Given the description of an element on the screen output the (x, y) to click on. 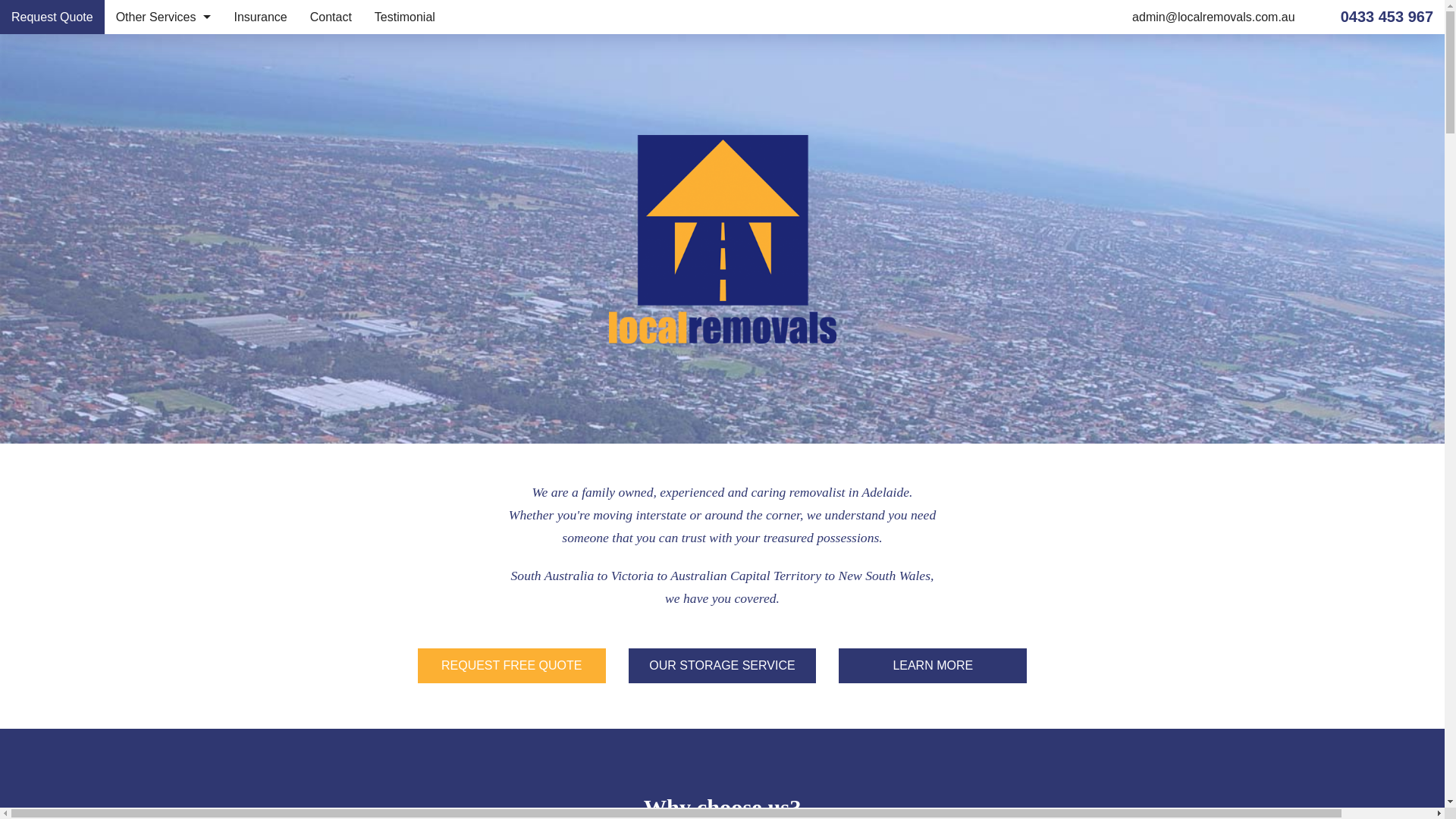
0433 453 967 Element type: text (1386, 16)
admin@localremovals.com.au Element type: text (1213, 17)
Other Services Element type: text (163, 17)
Insurance Element type: text (260, 17)
Cleaning Element type: text (163, 187)
Contact Element type: text (330, 17)
Storage in Adelaide Element type: text (861, 635)
Storage in Adelaide Element type: text (163, 119)
Testimonial Element type: text (818, 757)
Cleaning Element type: text (826, 684)
OUR STORAGE SERVICE Element type: text (722, 665)
Request Quote Element type: text (832, 538)
Contact Element type: text (807, 732)
Removals in Adelaide Element type: text (163, 153)
Packing Element type: text (823, 611)
Insurance Element type: text (814, 708)
Boxes Element type: text (817, 587)
admin@localremovals.com.au Element type: text (550, 641)
LEARN MORE Element type: text (932, 665)
REQUEST FREE QUOTE Element type: text (511, 665)
Boxes Element type: text (163, 51)
Testimonial Element type: text (404, 17)
0433 453 967 Element type: text (722, 476)
Request Quote Element type: text (52, 17)
Removals in Adelaide Element type: text (868, 660)
Packing Element type: text (163, 85)
Other Services Element type: text (831, 563)
